Given the description of an element on the screen output the (x, y) to click on. 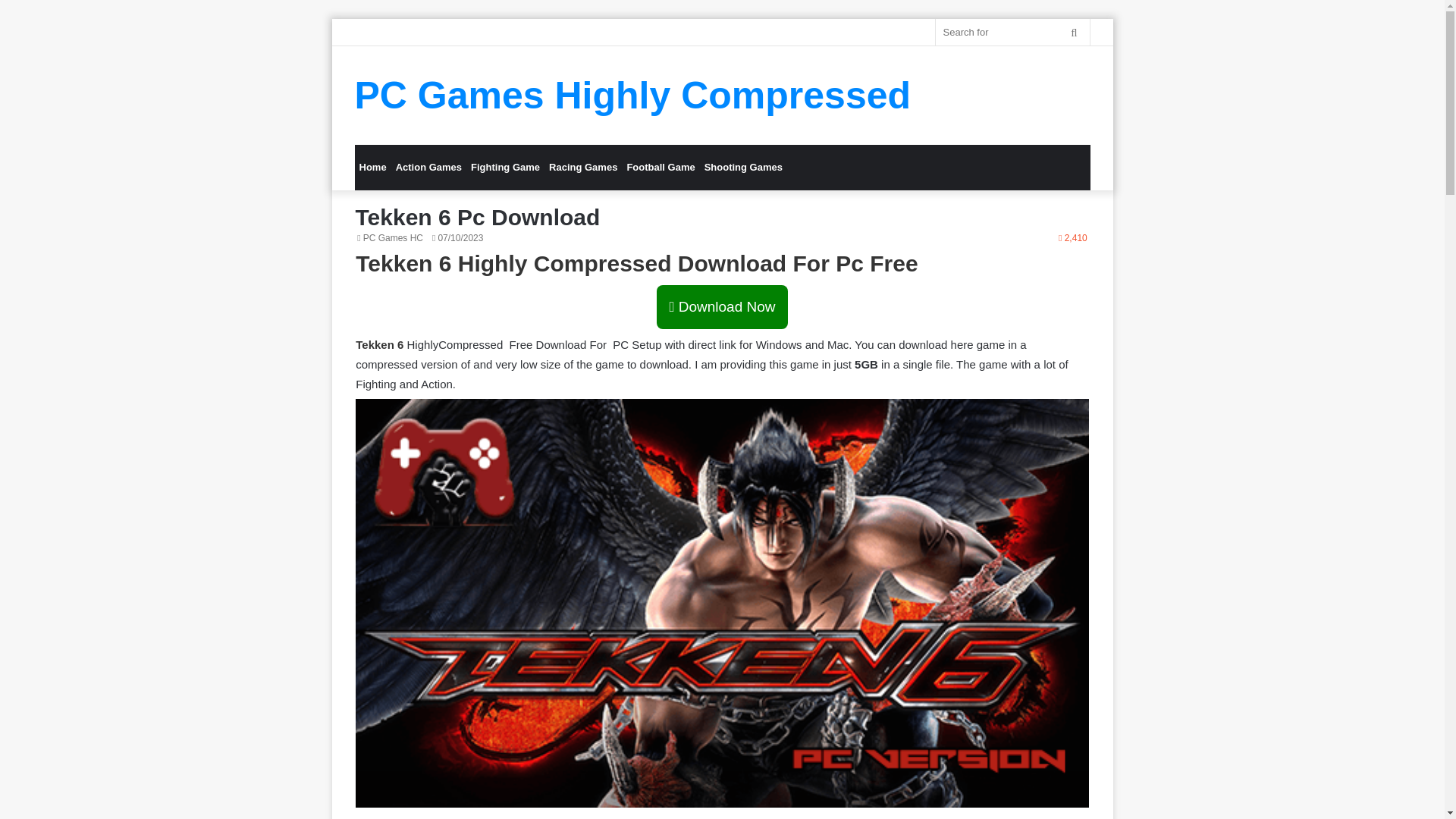
Download Now (721, 307)
Tekken 6 (379, 344)
Download Now (721, 307)
PC Games Highly Compressed (633, 95)
Search for (1012, 31)
Football Game (659, 167)
Action Games (428, 167)
Shooting Games (743, 167)
Fighting Game (504, 167)
